Given the description of an element on the screen output the (x, y) to click on. 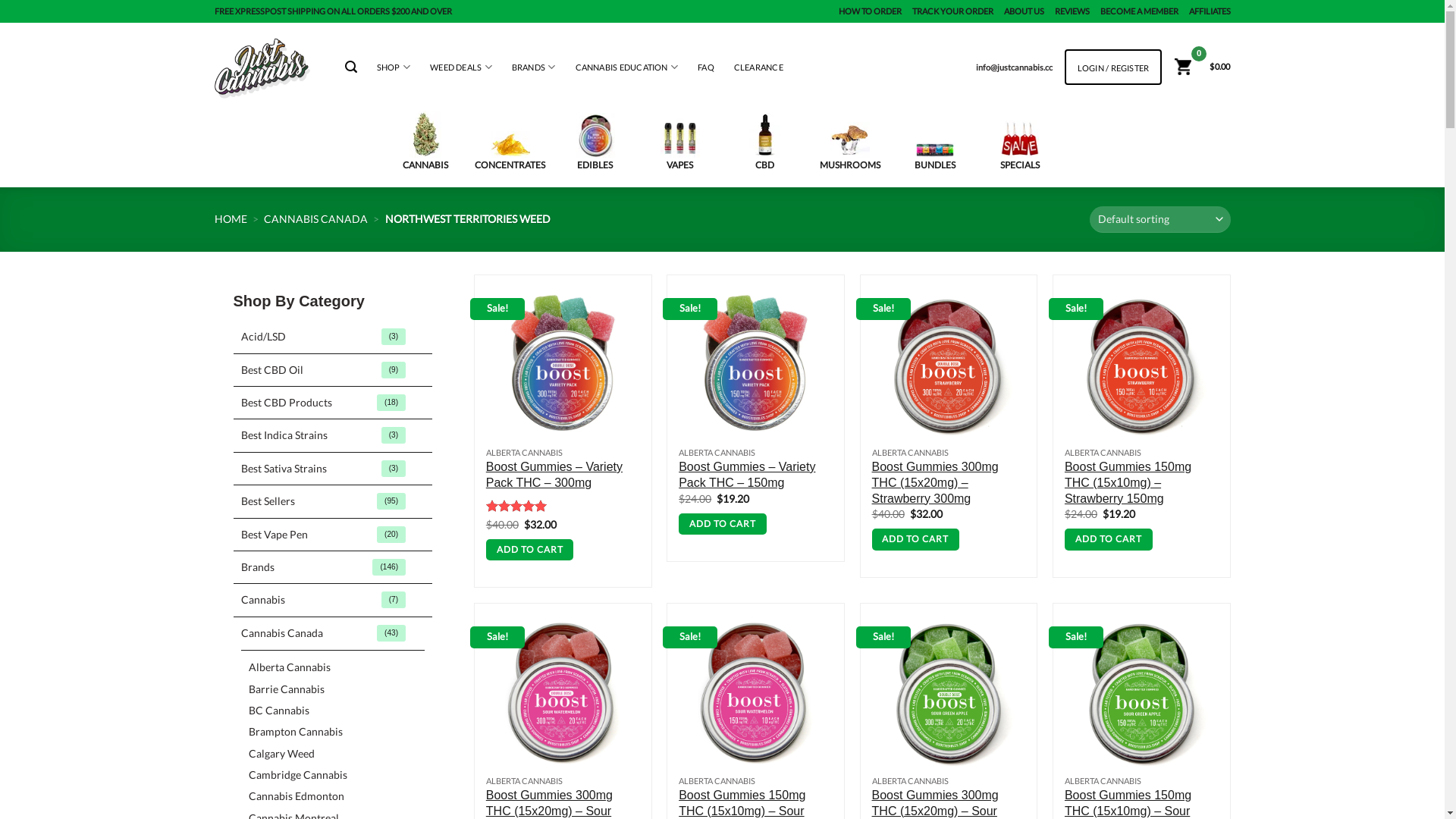
ADD TO CART Element type: text (530, 550)
MUSHROOMS Element type: text (849, 147)
Cannabis Element type: text (333, 599)
Calgary Weed Element type: text (281, 753)
CBD Element type: text (764, 142)
HOW TO ORDER Element type: text (869, 11)
Acid/LSD Element type: text (333, 336)
Best CBD Products Element type: text (333, 402)
Best Sellers Element type: text (333, 501)
ADD TO CART Element type: text (1108, 539)
AFFILIATES Element type: text (1209, 11)
BRANDS Element type: text (533, 66)
SHOP Element type: text (393, 66)
ADD TO CART Element type: text (916, 539)
VAPES Element type: text (679, 145)
Brands Element type: text (333, 567)
SPECIALS Element type: text (1018, 146)
CANNABIS EDUCATION Element type: text (626, 66)
BECOME A MEMBER Element type: text (1138, 11)
ADD TO CART Element type: text (722, 524)
HOME Element type: text (229, 218)
WEED DEALS Element type: text (460, 66)
Best Indica Strains Element type: text (333, 435)
Best Sativa Strains Element type: text (333, 468)
Barrie Cannabis Element type: text (286, 688)
REVIEWS Element type: text (1071, 11)
CLEARANCE Element type: text (758, 66)
Cannabis Canada Element type: text (333, 633)
BUNDLES Element type: text (933, 155)
FAQ Element type: text (705, 66)
LOGIN / REGISTER Element type: text (1113, 67)
Cannabis Edmonton Element type: text (296, 795)
CANNABIS Element type: text (424, 141)
info@justcannabis.cc Element type: text (1013, 67)
EDIBLES Element type: text (594, 142)
CANNABIS CANADA Element type: text (315, 218)
TRACK YOUR ORDER Element type: text (951, 11)
Cambridge Cannabis Element type: text (297, 774)
BC Cannabis Element type: text (278, 710)
Brampton Cannabis Element type: text (295, 731)
Best Vape Pen Element type: text (333, 534)
ABOUT US Element type: text (1024, 11)
$0.00
0 Element type: text (1200, 66)
CONCENTRATES Element type: text (509, 151)
Best CBD Oil Element type: text (333, 369)
Alberta Cannabis Element type: text (289, 666)
